Given the description of an element on the screen output the (x, y) to click on. 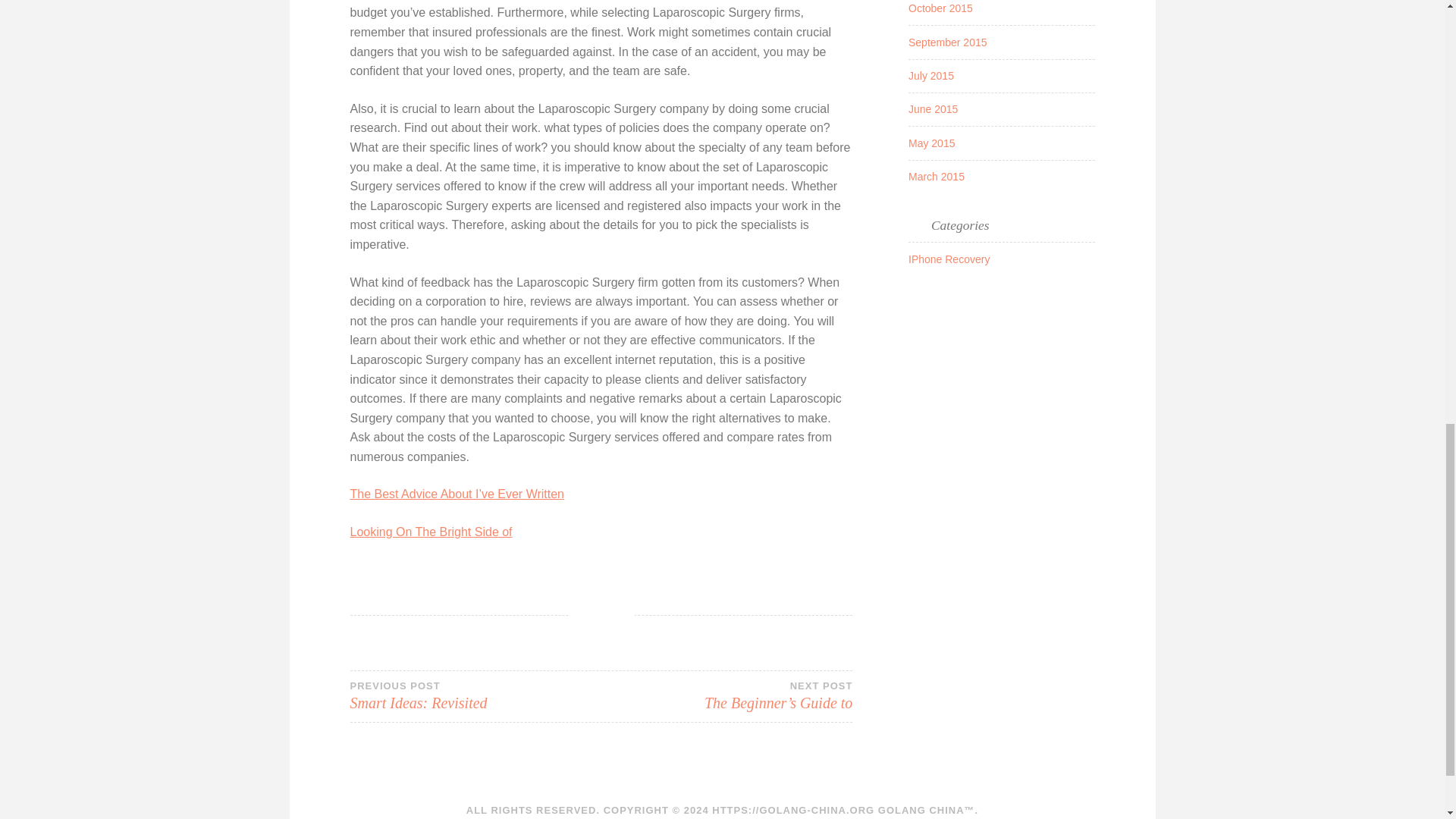
IPhone Recovery (475, 695)
September 2015 (949, 259)
Looking On The Bright Side of (947, 42)
June 2015 (431, 531)
July 2015 (933, 109)
March 2015 (930, 75)
May 2015 (935, 176)
October 2015 (931, 143)
